Given the description of an element on the screen output the (x, y) to click on. 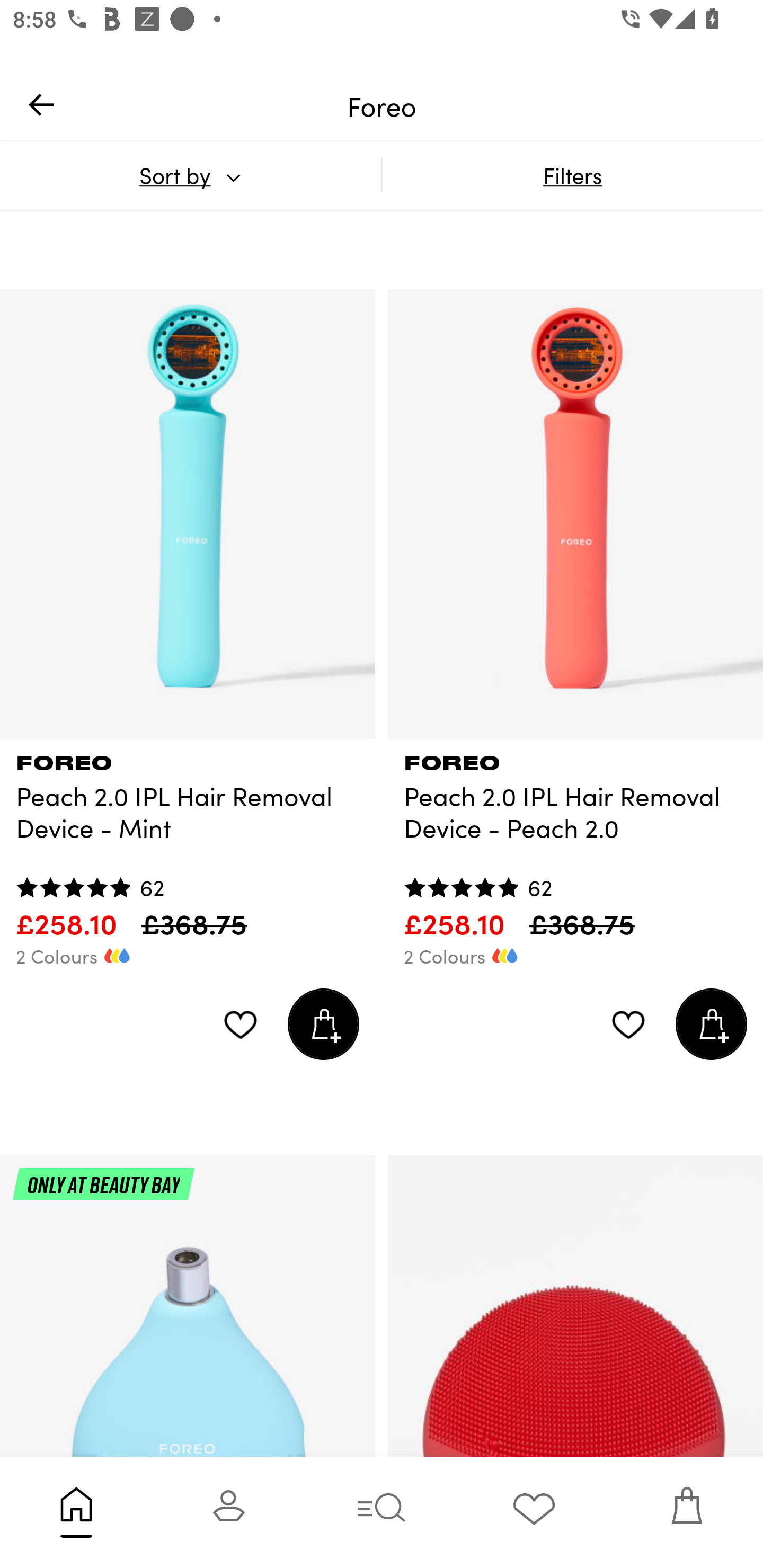
Sort by (190, 174)
Filters (572, 174)
